Given the description of an element on the screen output the (x, y) to click on. 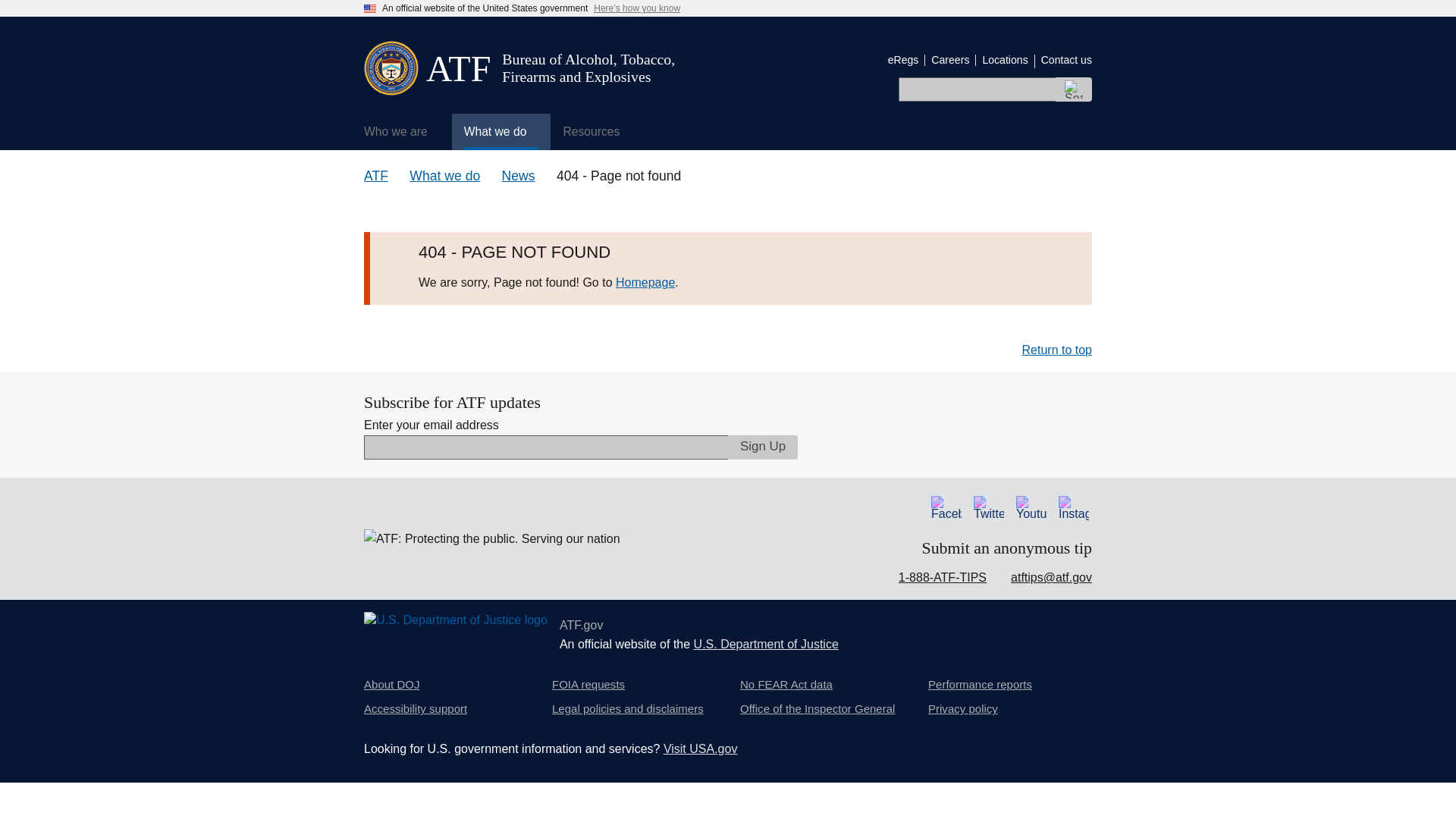
eRegs (903, 59)
Privacy policy (962, 709)
ATF (376, 175)
Accessibility support (415, 709)
U.S. Department of Justice (766, 644)
News (518, 175)
ATF (458, 68)
No FEAR Act data (785, 684)
FOIA requests (587, 684)
Homepage (645, 282)
Legal policies and disclaimers (627, 709)
Office of the Inspector General (817, 709)
1-888-ATF-TIPS (942, 576)
Sign Up (762, 446)
Contact us (1066, 59)
